Given the description of an element on the screen output the (x, y) to click on. 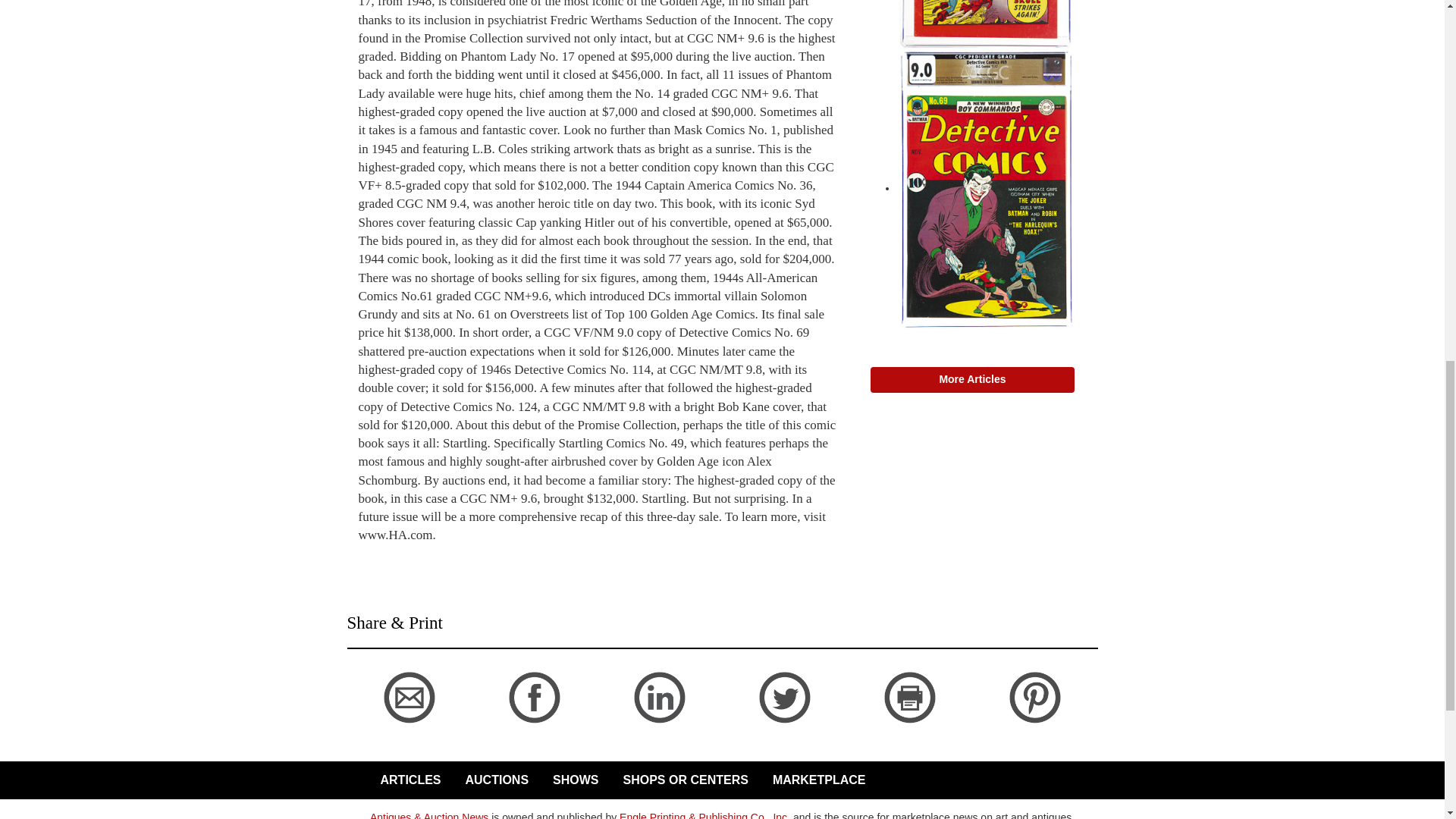
SHOWS (572, 780)
SHOPS OR CENTERS (682, 780)
More Articles (972, 379)
ARTICLES (407, 780)
MARKETPLACE (816, 780)
back to articles (393, 551)
back to articles (382, 729)
AUCTIONS (494, 780)
